Given the description of an element on the screen output the (x, y) to click on. 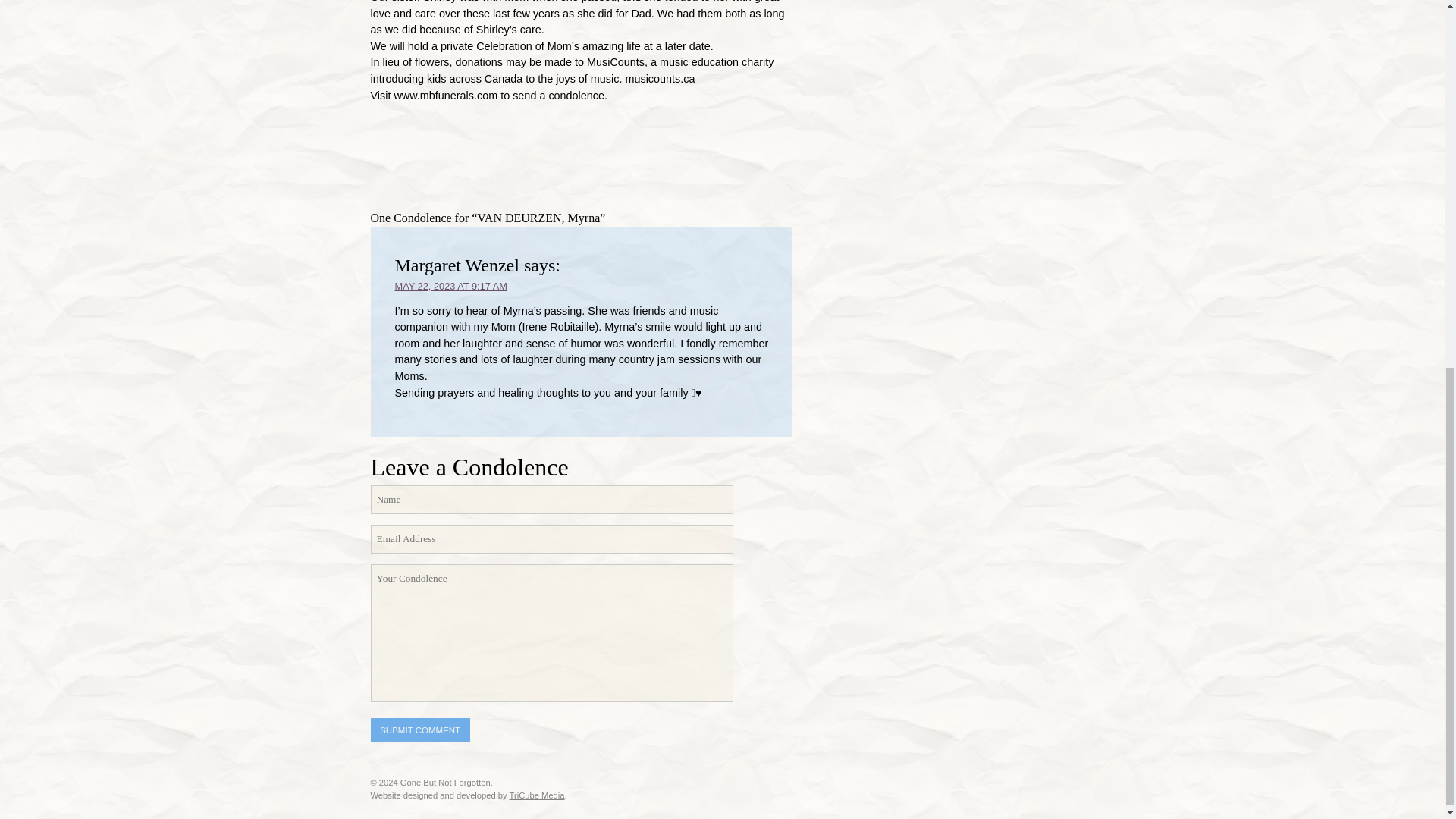
TriCube Media (536, 795)
Submit Comment (418, 729)
MAY 22, 2023 AT 9:17 AM (450, 285)
Submit Comment (418, 729)
